Given the description of an element on the screen output the (x, y) to click on. 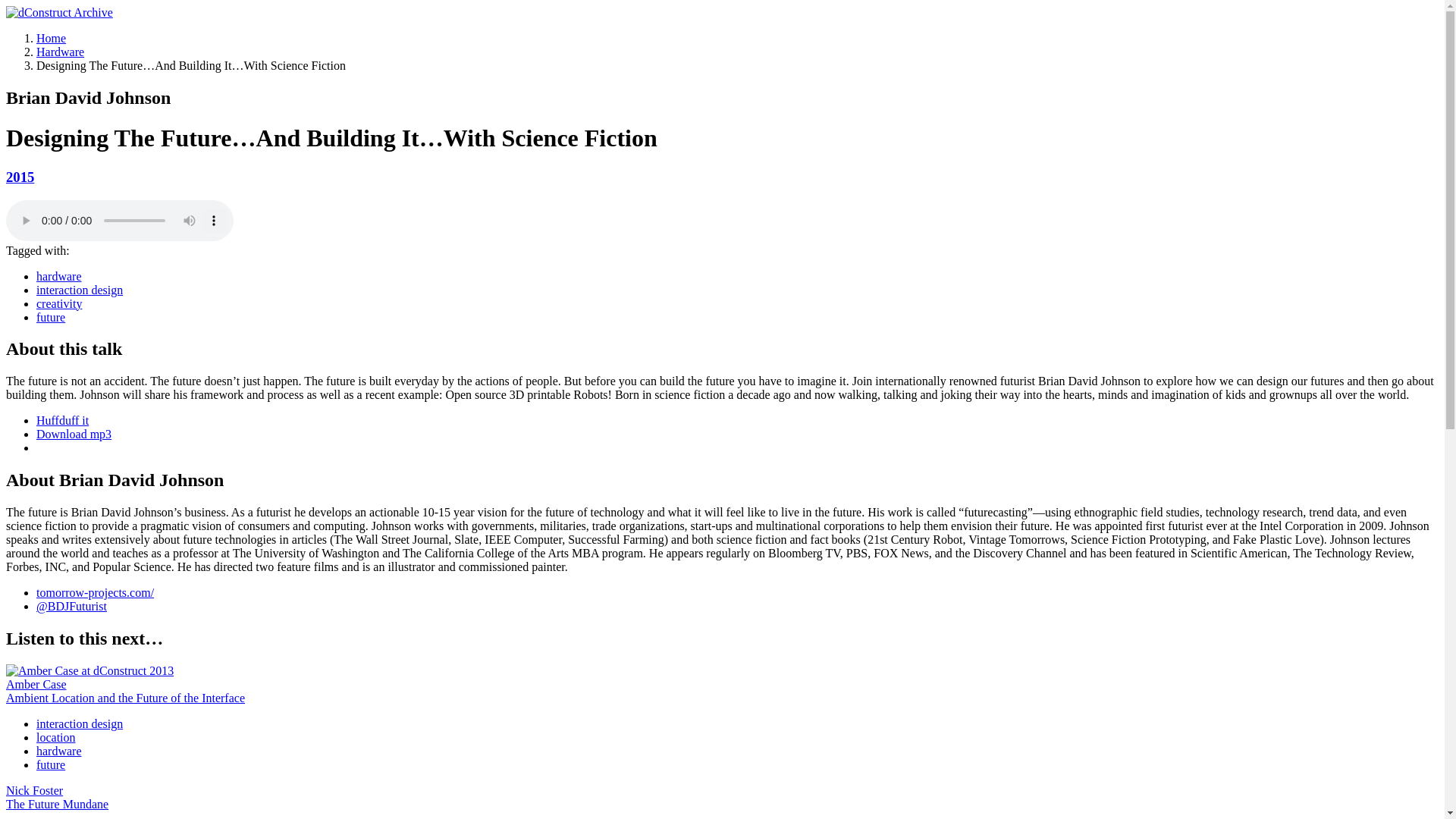
Download mp3 (74, 433)
hardware (58, 750)
Huffduff it (62, 420)
interaction design (79, 289)
interaction design (79, 723)
creativity (58, 303)
Home (50, 38)
future (50, 764)
2015 (19, 176)
future (50, 317)
location (55, 737)
Hardware (60, 51)
hardware (58, 276)
